Given the description of an element on the screen output the (x, y) to click on. 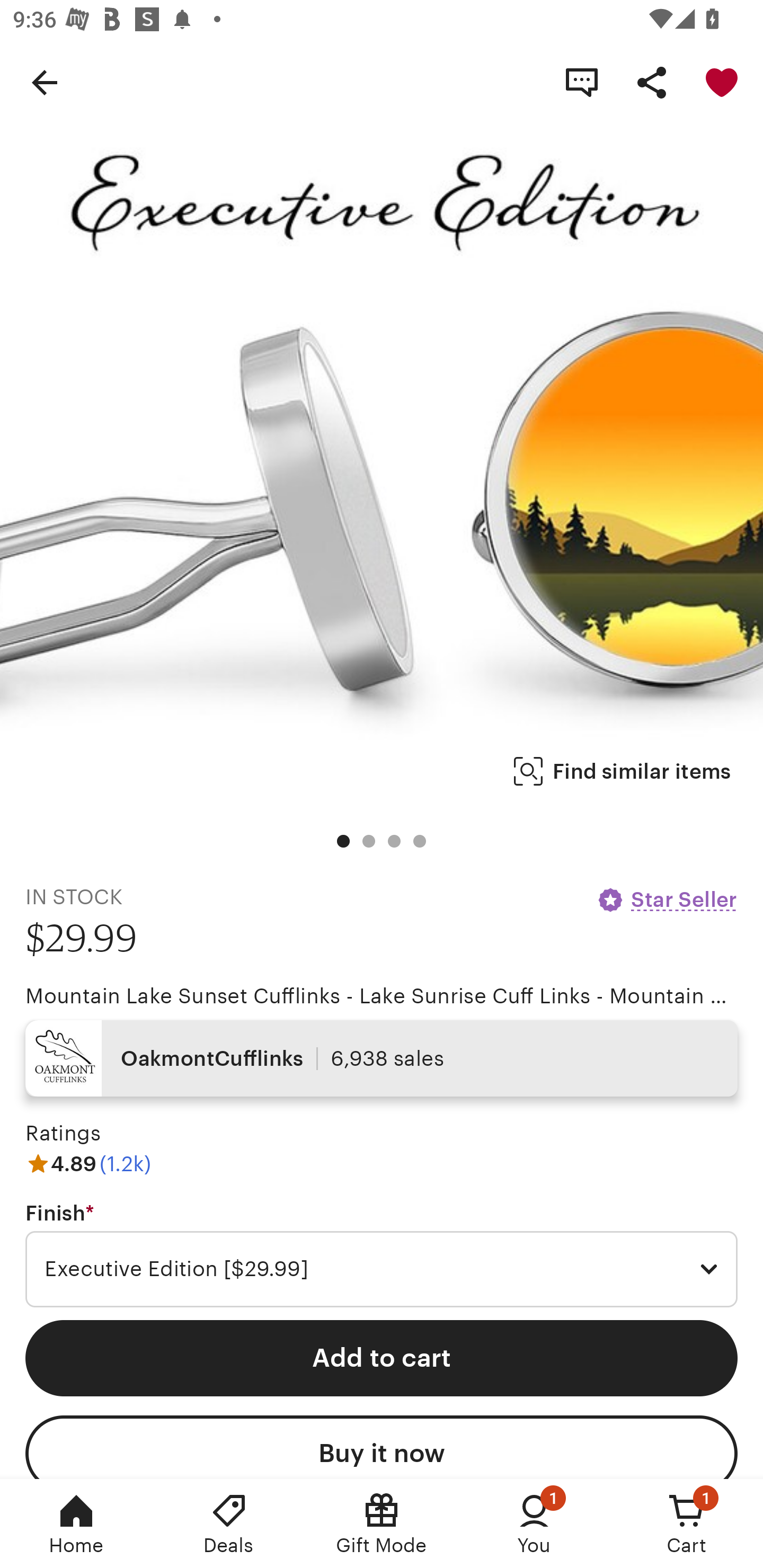
Navigate up (44, 81)
Contact shop (581, 81)
Share (651, 81)
Find similar items (622, 771)
Star Seller (666, 899)
OakmontCufflinks 6,938 sales (381, 1058)
Ratings (62, 1133)
4.89 (1.2k) (88, 1163)
Finish * Required Executive Edition [$29.99] (381, 1254)
Executive Edition [$29.99] (381, 1268)
Add to cart (381, 1358)
Buy it now (381, 1446)
Deals (228, 1523)
Gift Mode (381, 1523)
You, 1 new notification You (533, 1523)
Cart, 1 new notification Cart (686, 1523)
